Given the description of an element on the screen output the (x, y) to click on. 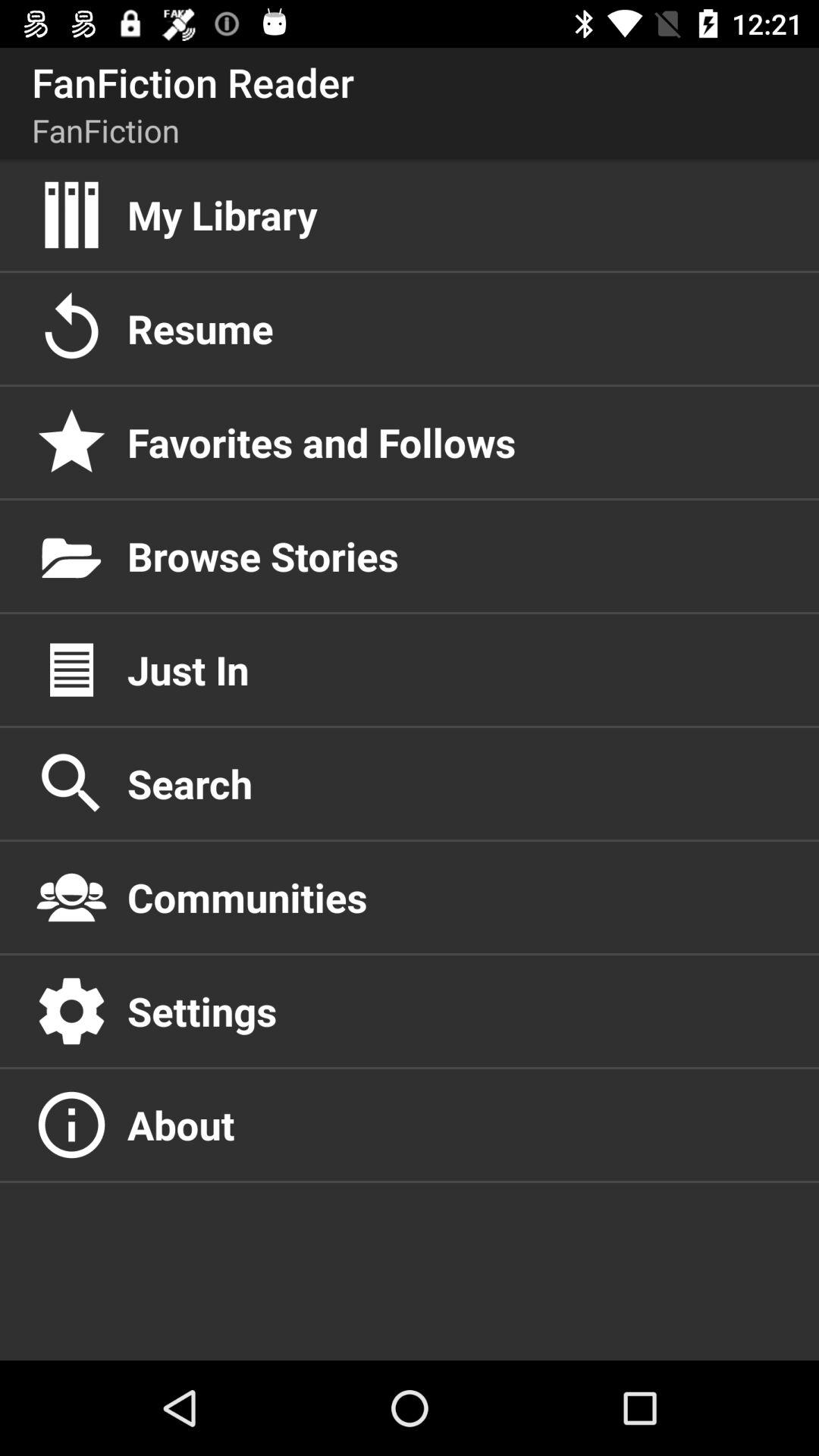
swipe until the my library item (457, 214)
